Given the description of an element on the screen output the (x, y) to click on. 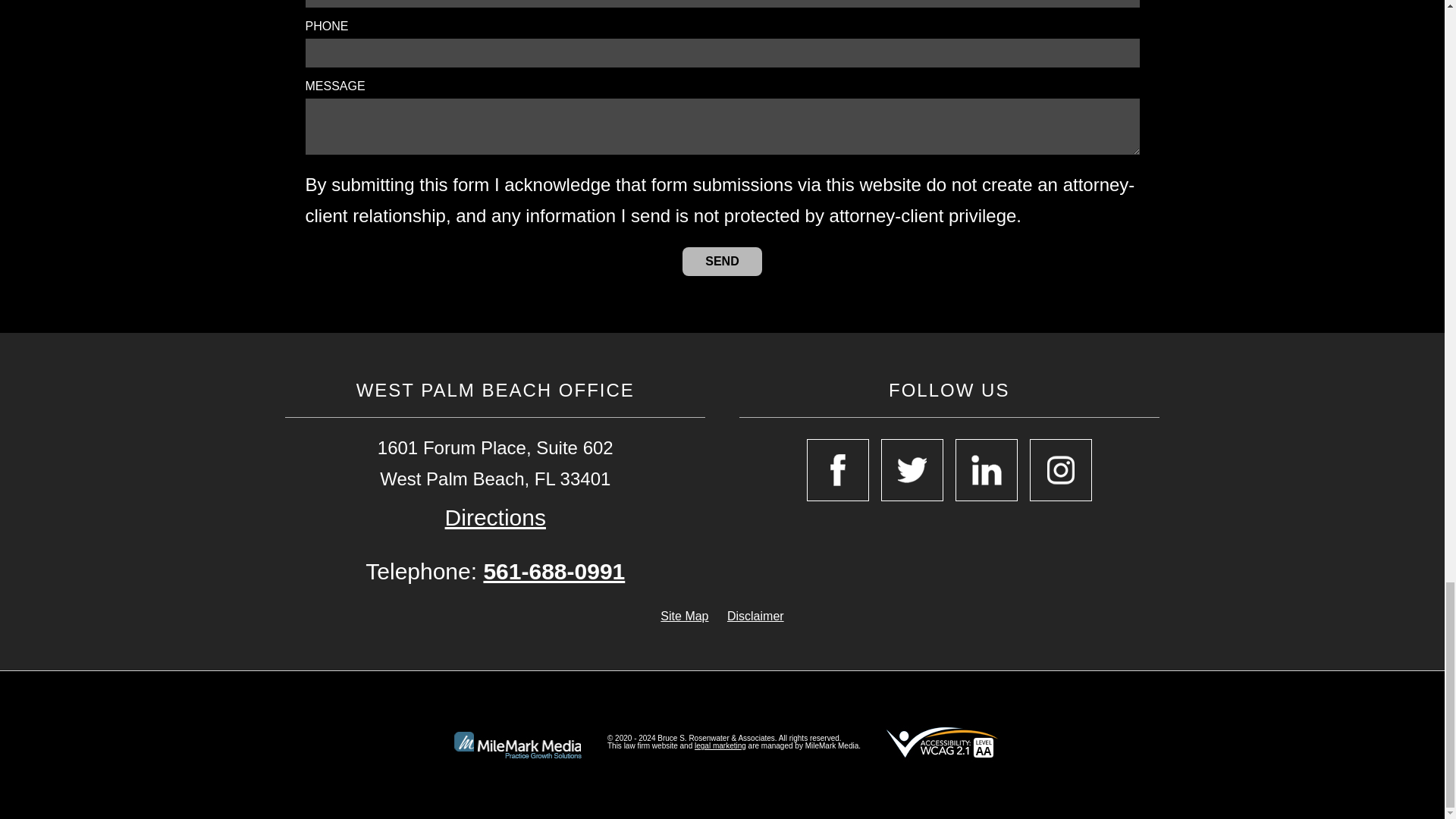
Open Linkedin in a New Window (986, 469)
Open Twitter in a New Window (911, 469)
Send (721, 261)
Open Google Map in a New Window (495, 517)
Open Facebook in a New Window (837, 469)
Open Instagram in a New Window (1060, 469)
